Given the description of an element on the screen output the (x, y) to click on. 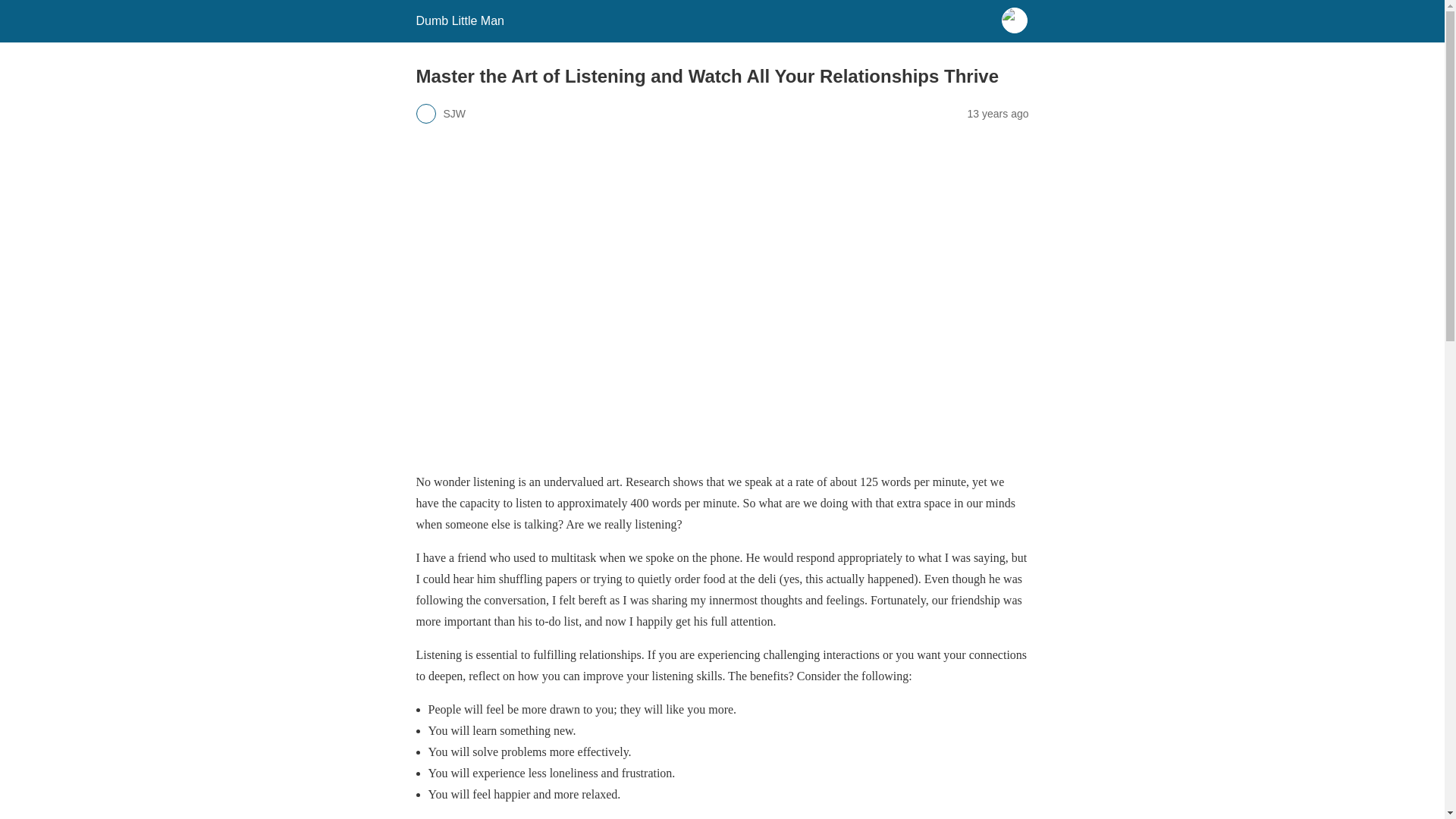
Dumb Little Man (458, 20)
